Given the description of an element on the screen output the (x, y) to click on. 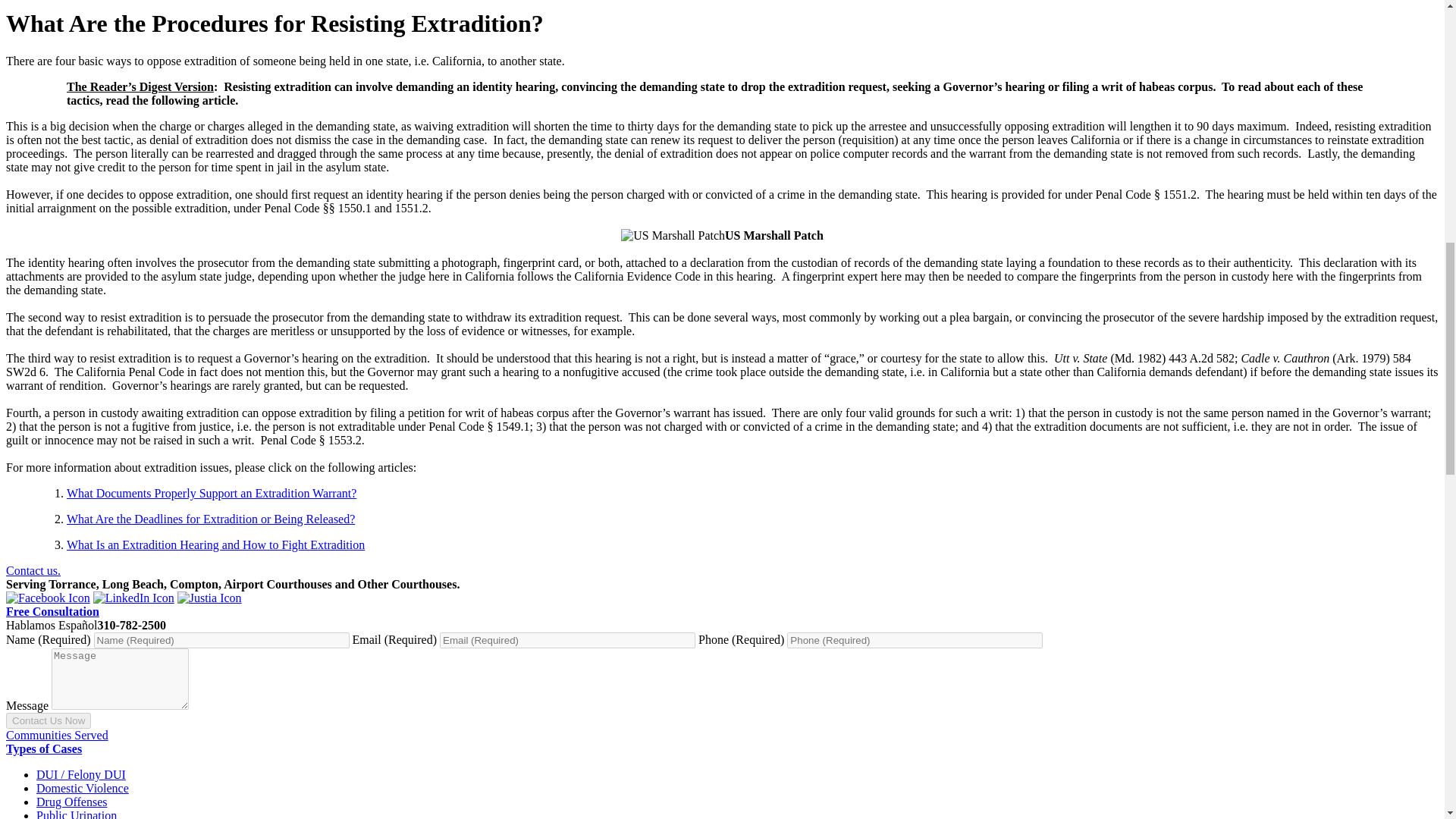
What Documents Properly Support an Extradition Warrant? (211, 492)
What Are the Deadlines for Extradition or Being Released? (210, 518)
Facebook (47, 597)
Justia (209, 597)
What Is an Extradition Hearing and How to Fight Extradition (215, 544)
LinkedIn (133, 597)
